Given the description of an element on the screen output the (x, y) to click on. 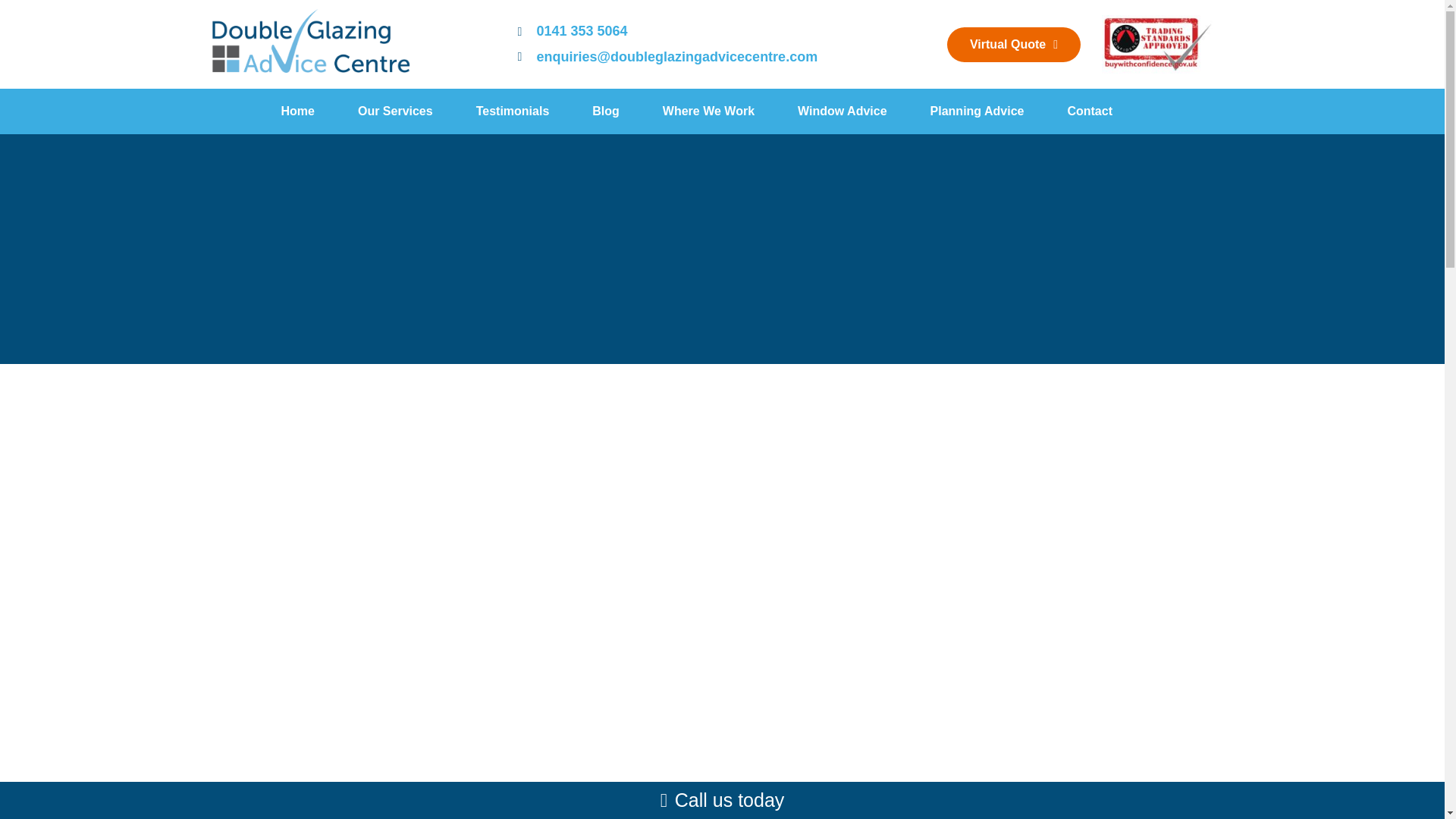
Our Services (395, 111)
Window Advice (841, 111)
Testimonials (513, 111)
Planning Advice (977, 111)
Where We Work (708, 111)
0141 353 5064 (571, 31)
Contact (1089, 111)
Call us today (722, 800)
Virtual Quote (1013, 44)
Home (297, 111)
